Given the description of an element on the screen output the (x, y) to click on. 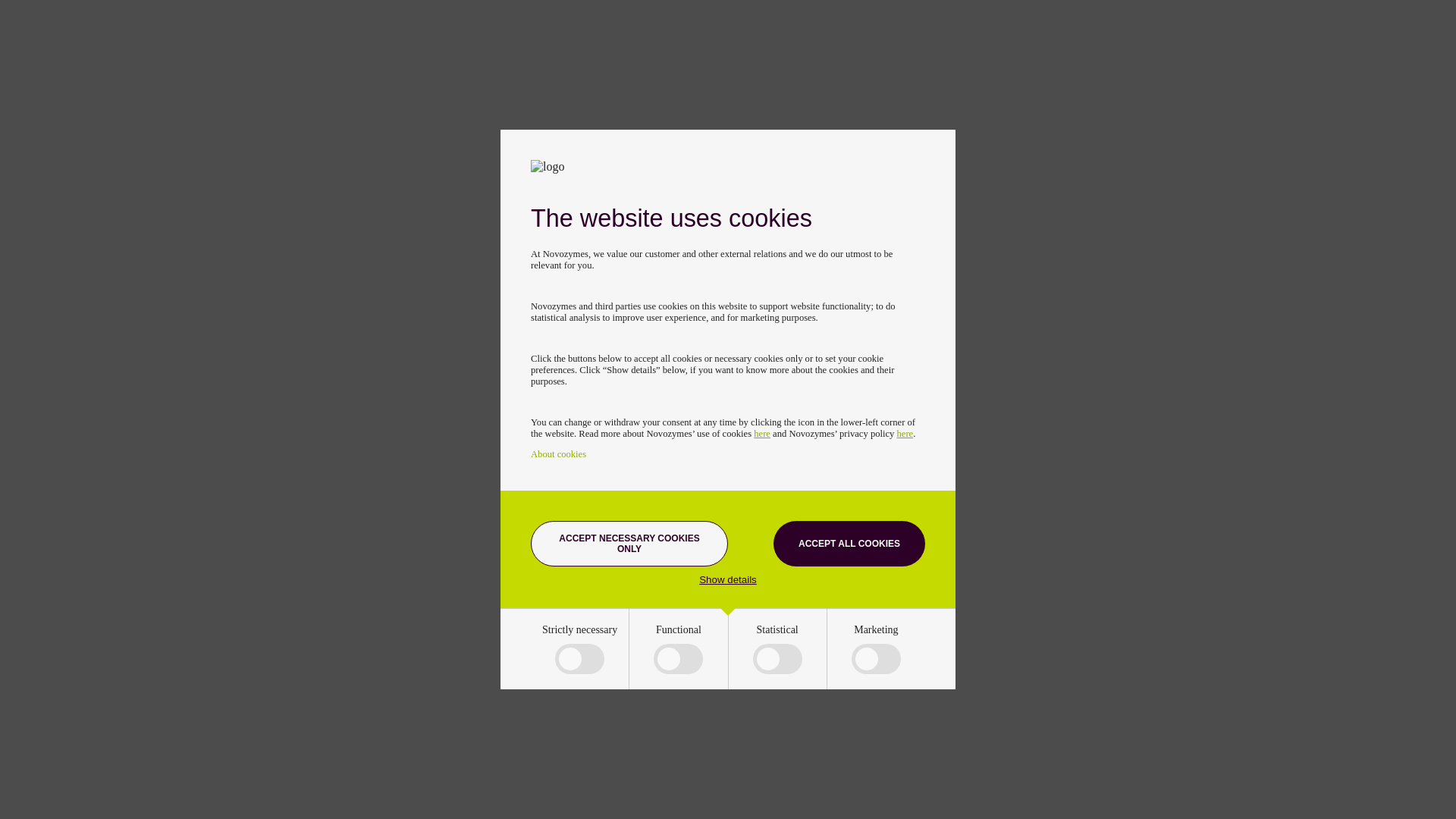
ACCEPT NECESSARY COOKIES ONLY (629, 543)
Show details (727, 579)
ACCEPT ALL COOKIES (848, 543)
About cookies (558, 453)
here (762, 433)
here (905, 433)
